Given the description of an element on the screen output the (x, y) to click on. 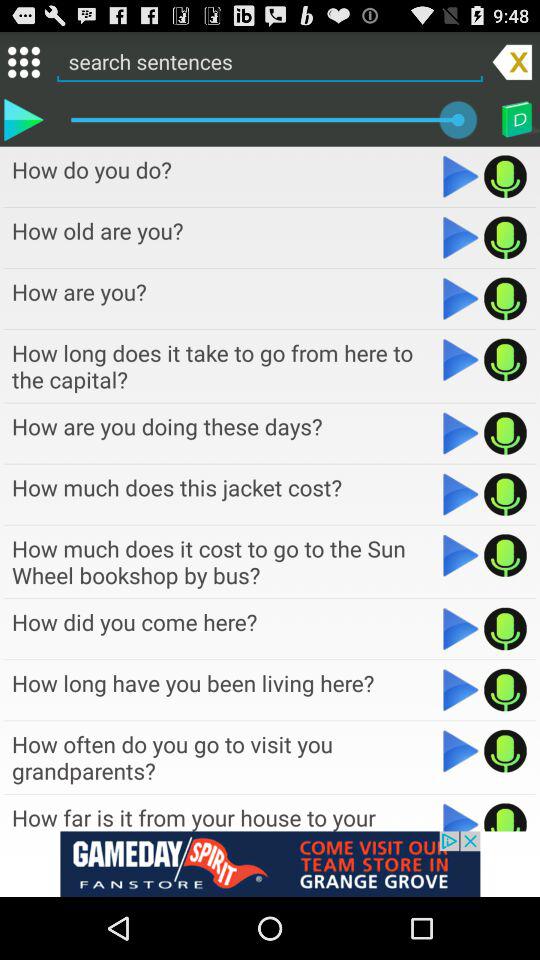
play this sentence (460, 816)
